Given the description of an element on the screen output the (x, y) to click on. 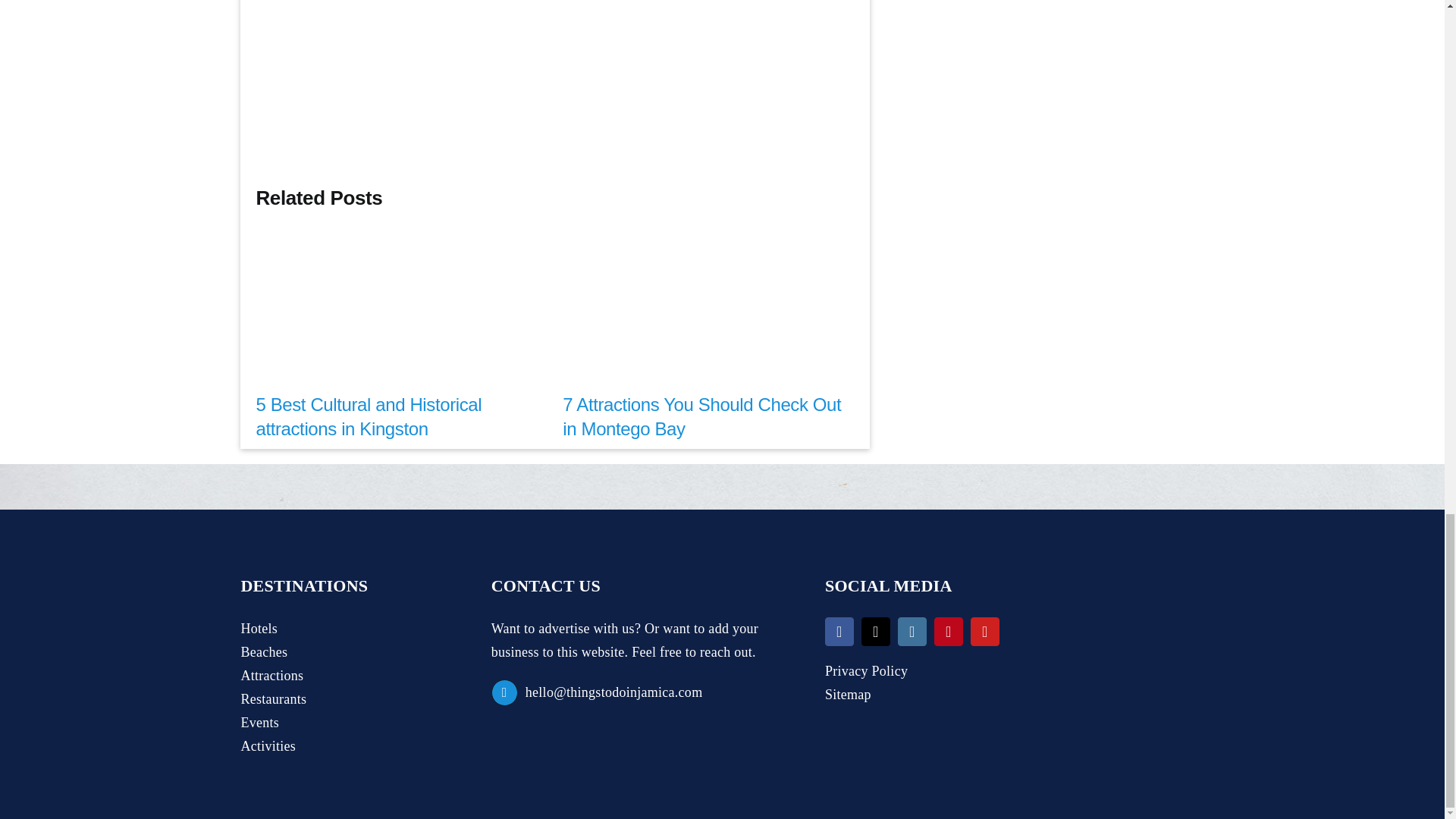
7 Attractions You Should Check Out in Montego Bay (701, 415)
5 Best Cultural and Historical attractions in Kingston (368, 415)
Beaches (346, 652)
5 Best Cultural and Historical attractions in Kingston (368, 415)
7 Attractions You Should Check Out in Montego Bay (701, 415)
Hotels (346, 628)
